Given the description of an element on the screen output the (x, y) to click on. 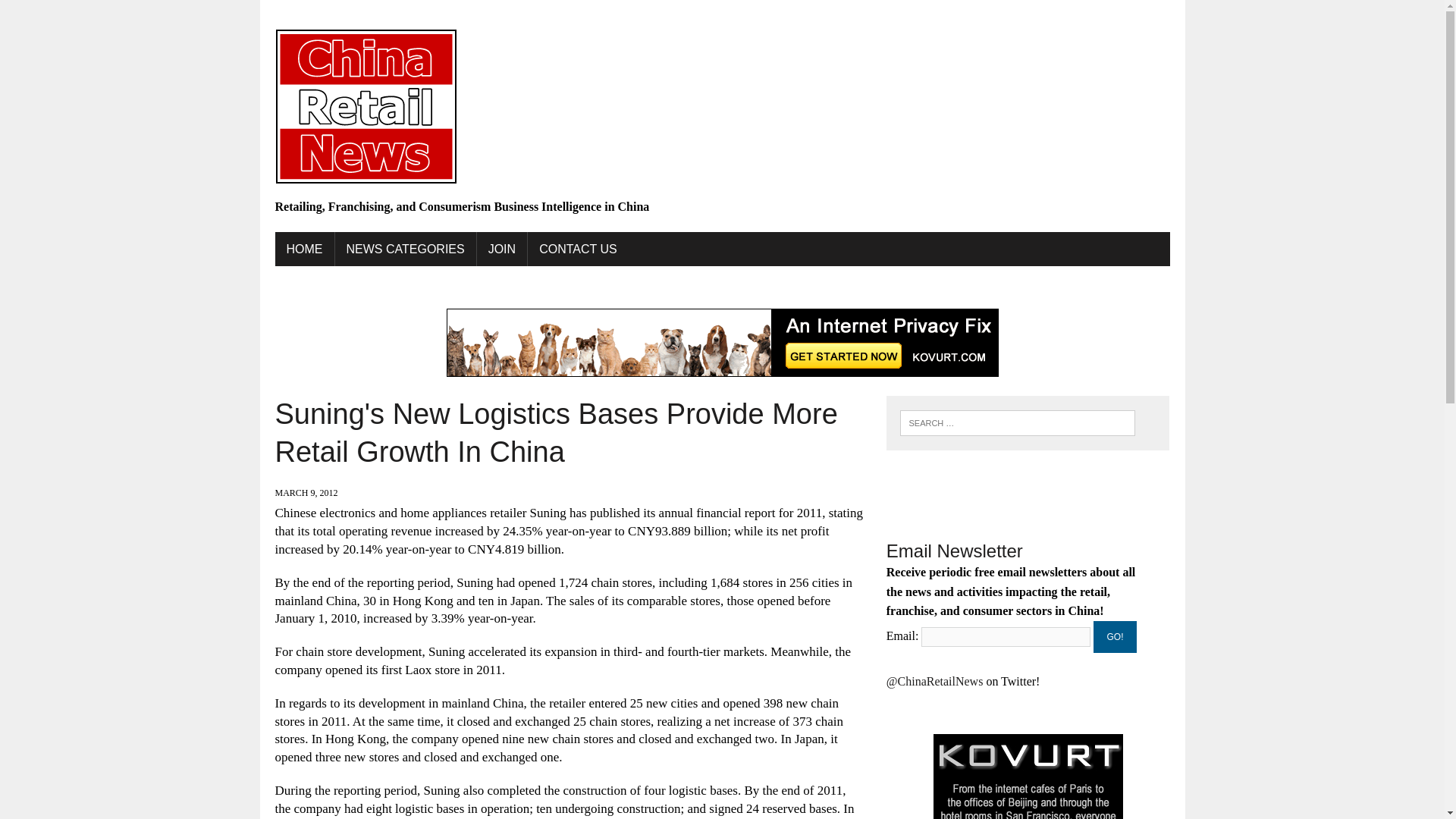
Contact Us (577, 248)
 GO!  (1115, 636)
NEWS CATEGORIES (405, 248)
Search (75, 14)
 GO!  (1115, 636)
JOIN (502, 248)
Join (502, 248)
CONTACT US (577, 248)
HOME (304, 248)
